Given the description of an element on the screen output the (x, y) to click on. 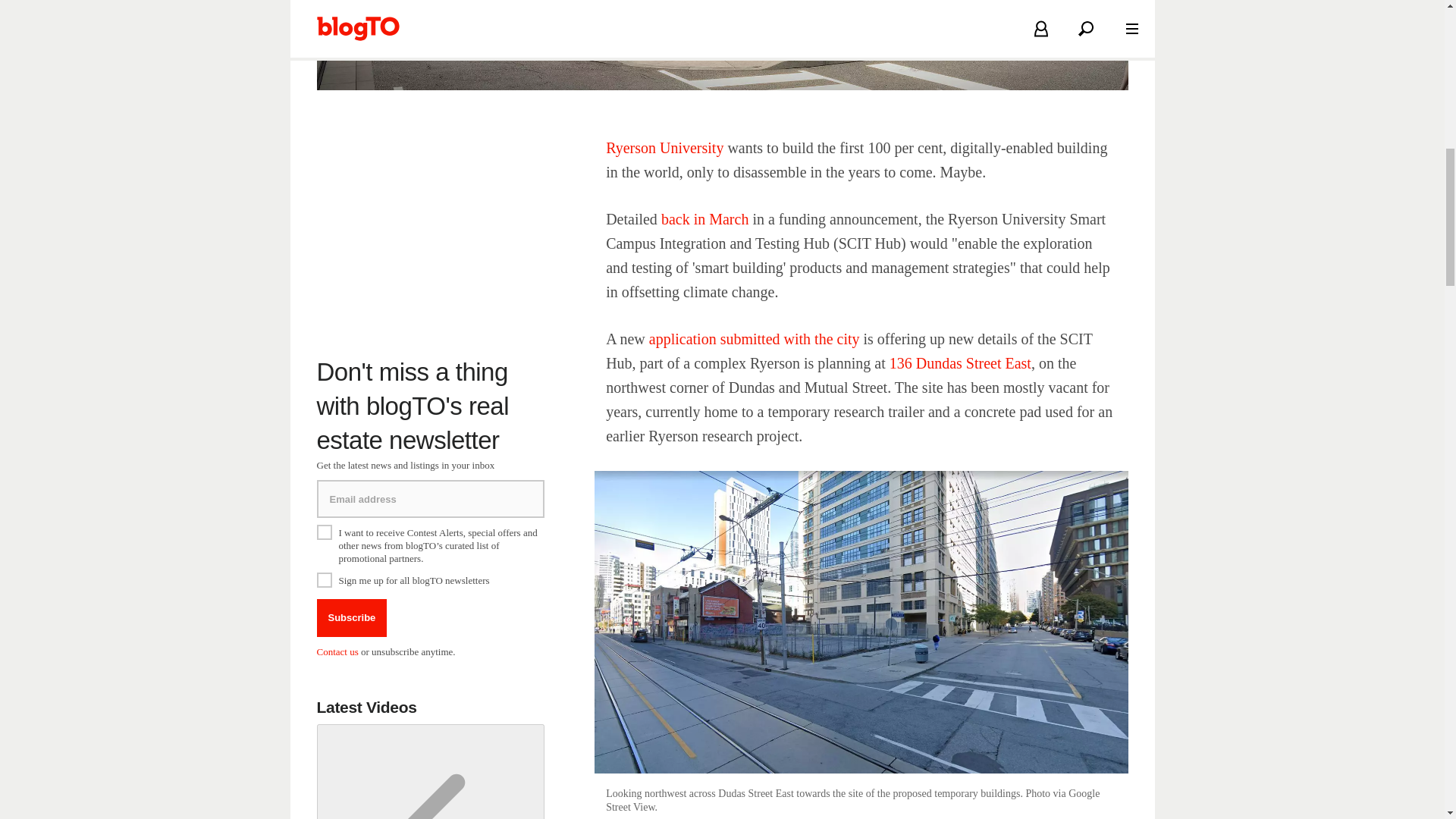
Subscribe (352, 617)
3rd party ad content (430, 230)
